Given the description of an element on the screen output the (x, y) to click on. 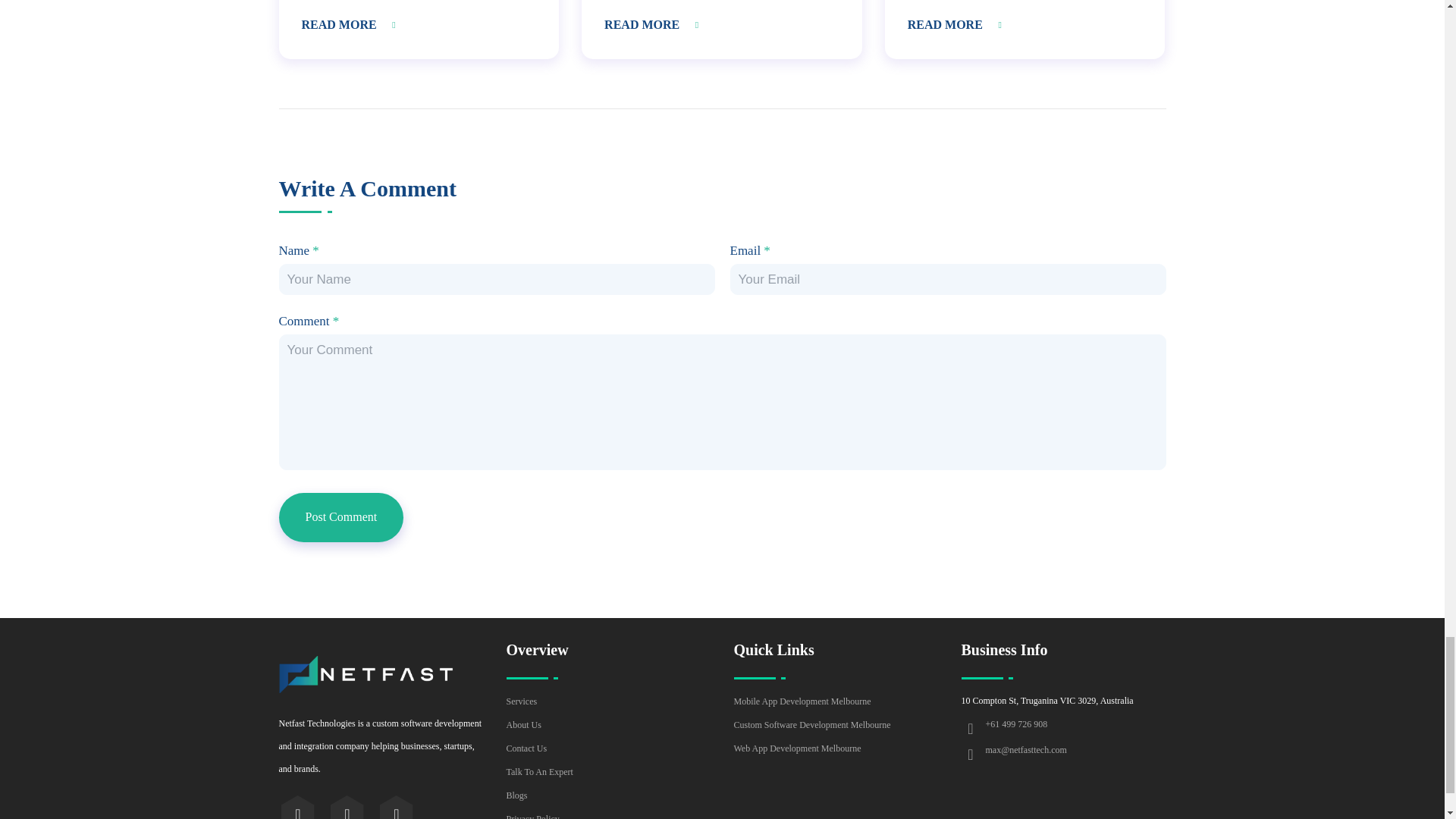
Post Comment (341, 517)
